Given the description of an element on the screen output the (x, y) to click on. 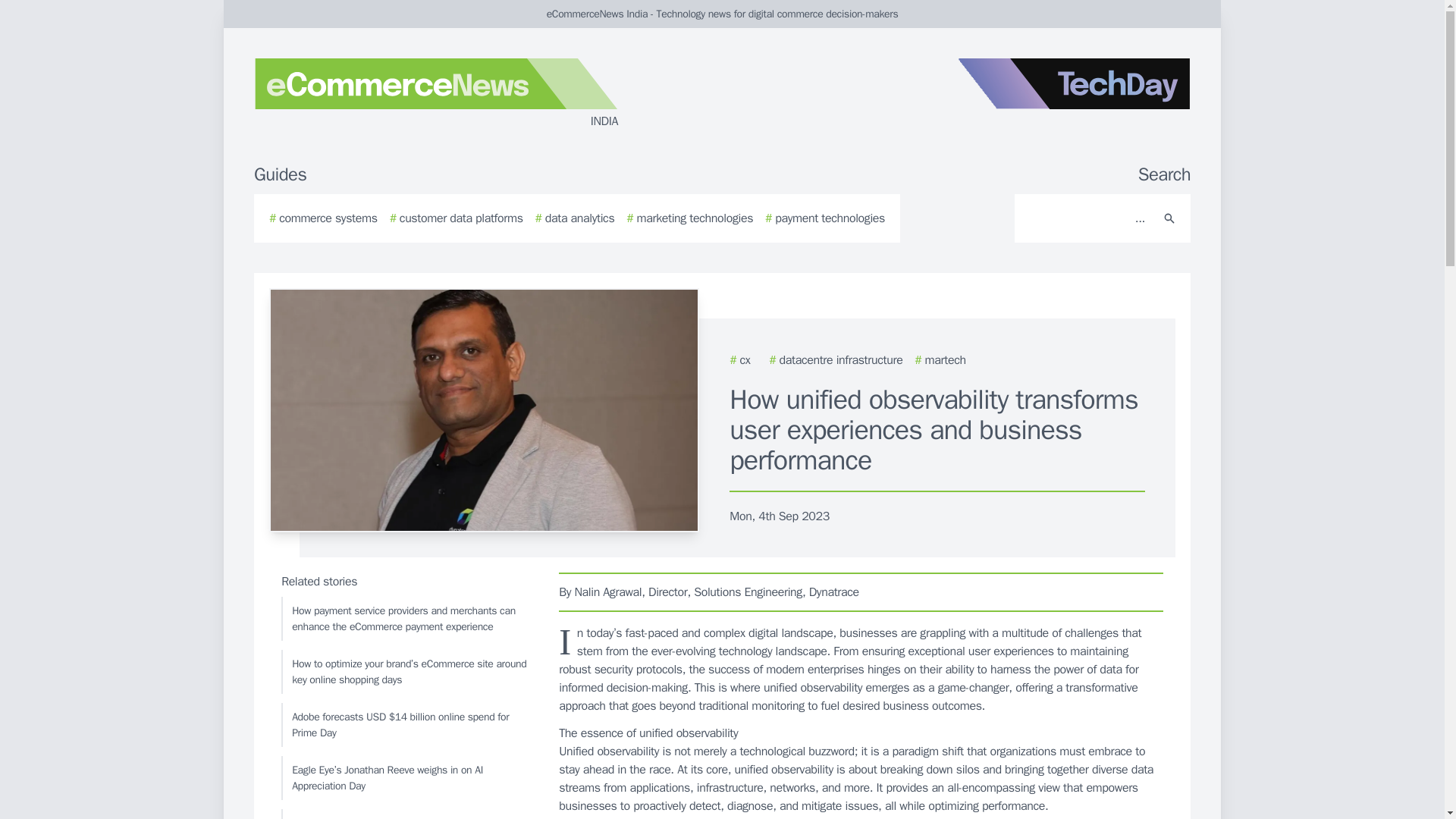
Hexaware launches AI app for eCommerce product descriptions (406, 814)
By Nalin Agrawal, Director, Solutions Engineering, Dynatrace (861, 592)
INDIA (435, 94)
